Given the description of an element on the screen output the (x, y) to click on. 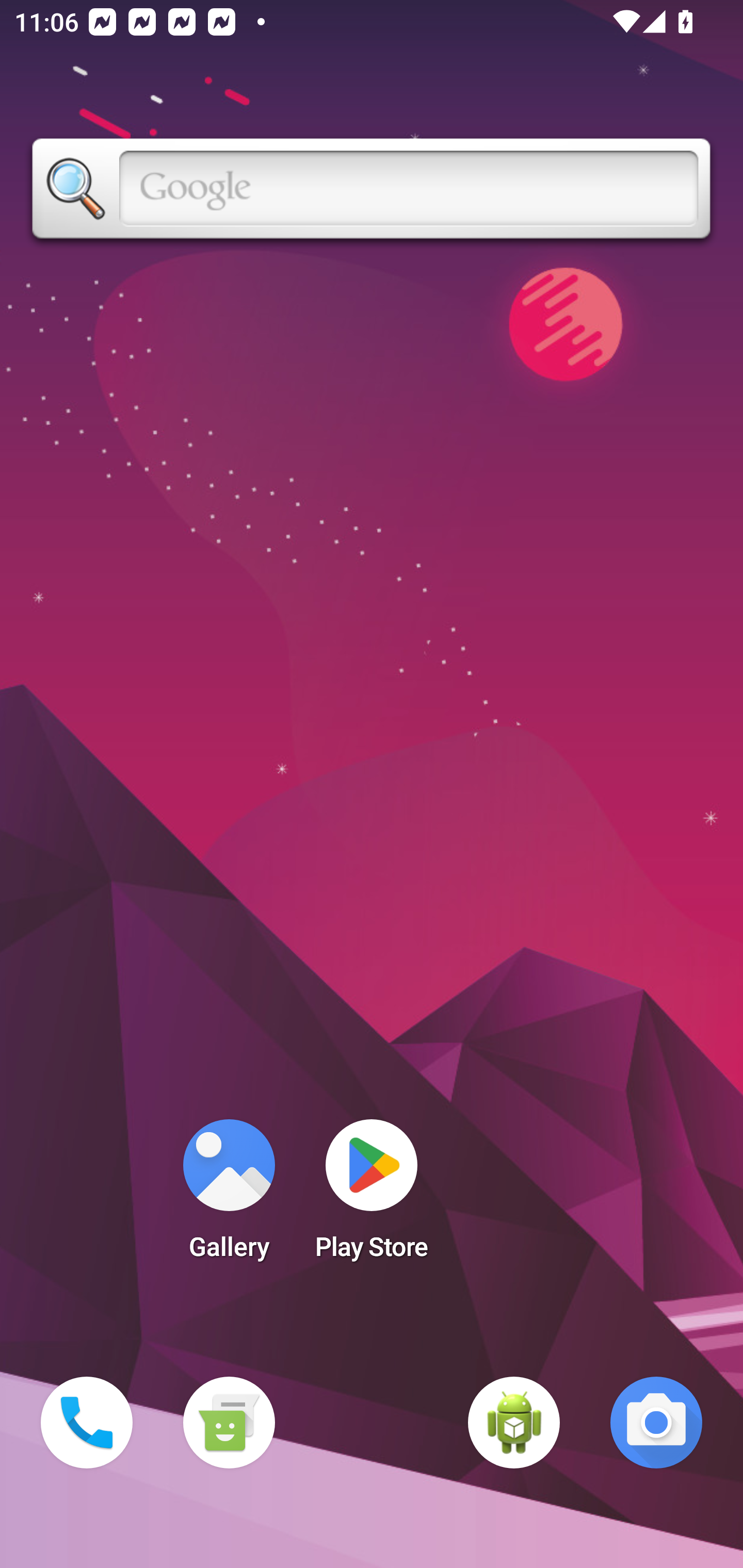
Gallery (228, 1195)
Play Store (371, 1195)
Phone (86, 1422)
Messaging (228, 1422)
WebView Browser Tester (513, 1422)
Camera (656, 1422)
